Given the description of an element on the screen output the (x, y) to click on. 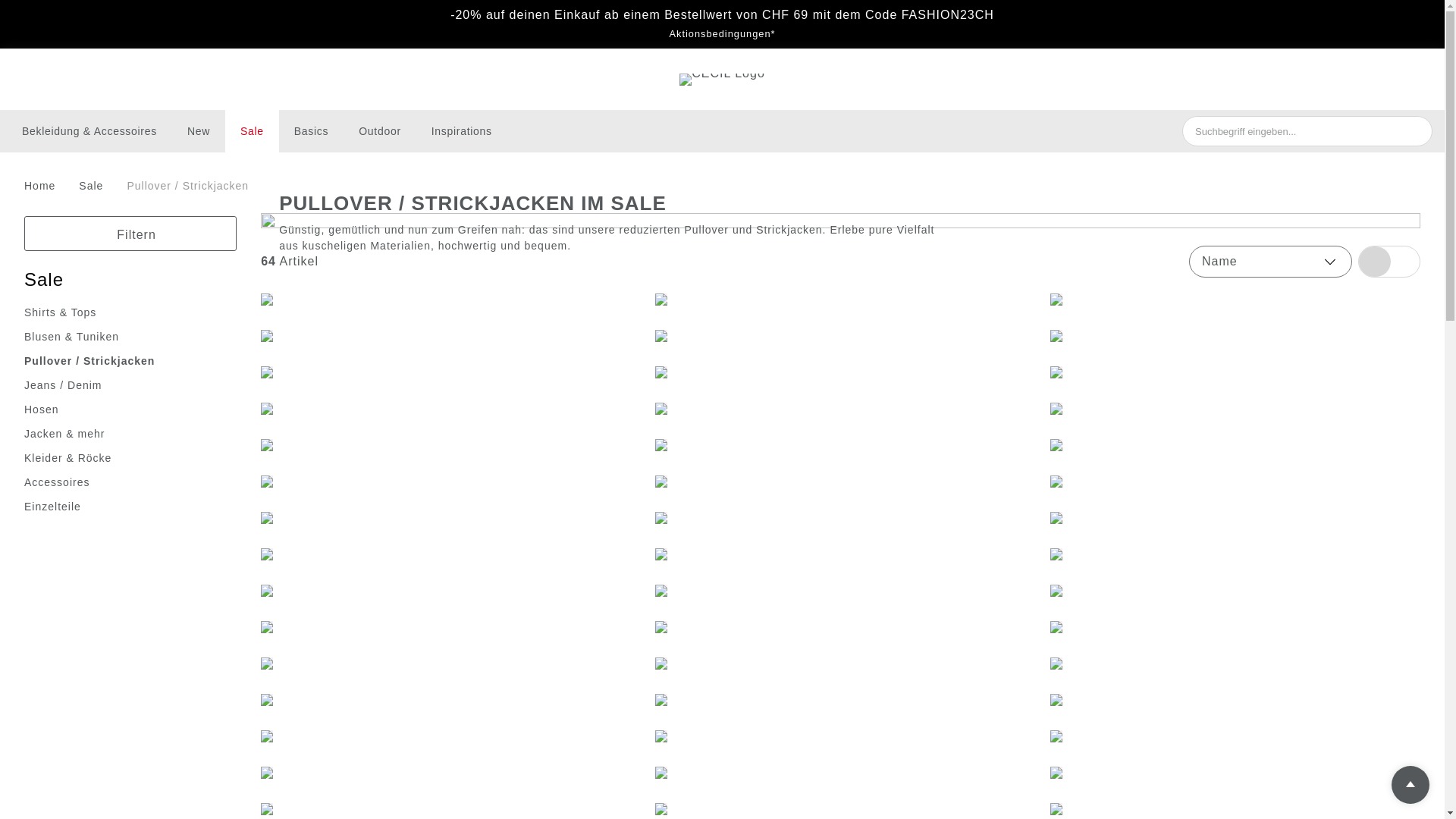
New Element type: text (198, 130)
Accessoires Element type: text (56, 482)
Einzelteile Element type: text (52, 506)
Sale Element type: text (90, 185)
Outdoor Element type: text (379, 130)
Bekleidung & Accessoires Element type: text (89, 130)
Shirts & Tops Element type: text (60, 312)
Home Element type: text (42, 185)
Jeans / Denim Element type: text (62, 385)
Basics Element type: text (311, 130)
Inspirations Element type: text (461, 130)
Blusen & Tuniken Element type: text (71, 336)
Jacken & mehr Element type: text (64, 433)
Pullover / Strickjacken Element type: text (89, 360)
Sale Element type: text (252, 130)
Pullover / Strickjacken Element type: text (187, 185)
Hosen Element type: text (41, 409)
Sale Element type: text (43, 280)
